Given the description of an element on the screen output the (x, y) to click on. 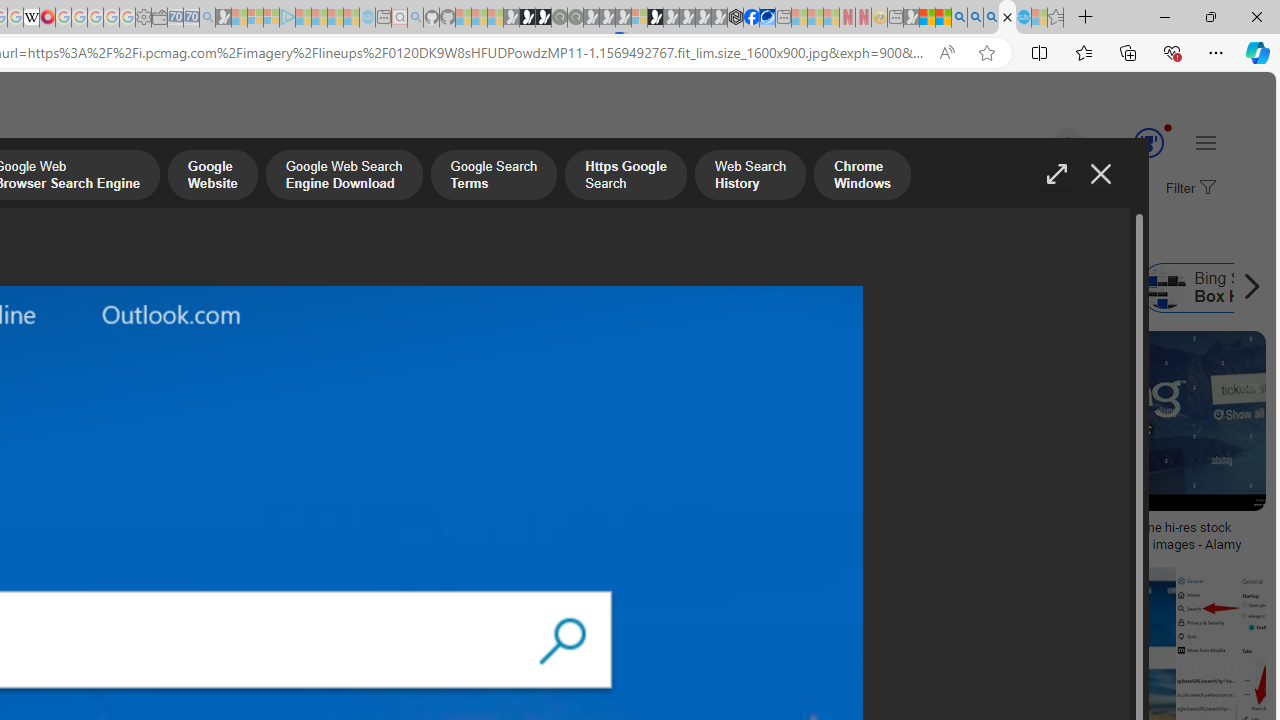
Old Bing (319, 287)
Settings and quick links (1205, 142)
Bing Best Search Engine (173, 287)
Bing Search Site - Search Images (1007, 17)
AutomationID: rh_meter (1148, 142)
Hoodies (132, 460)
Bing Best Search Engine (86, 287)
Bing T-Shirts (132, 400)
